Given the description of an element on the screen output the (x, y) to click on. 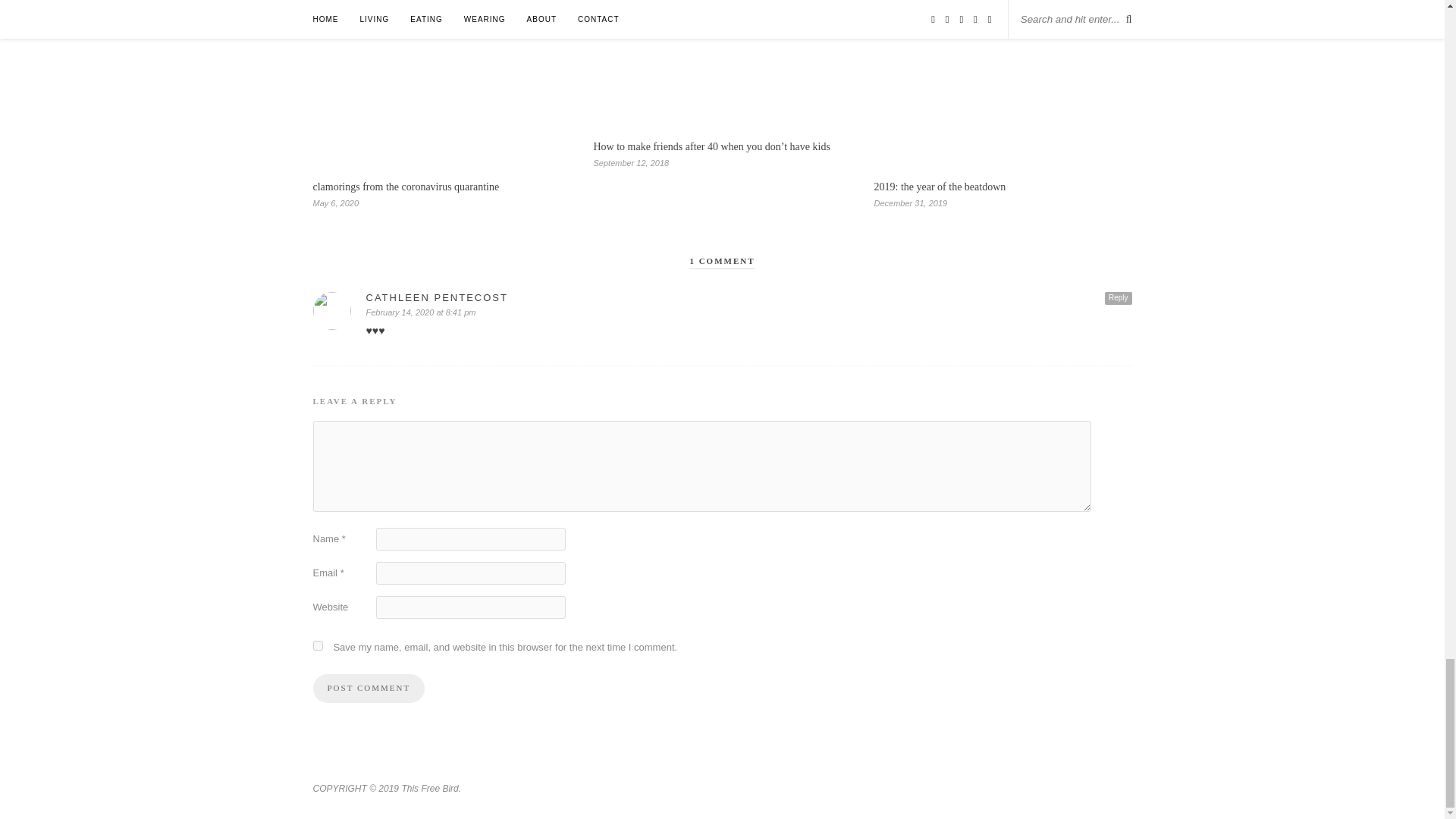
2019: the year of the beatdown (939, 186)
yes (317, 645)
Reply (1118, 297)
Post Comment (369, 688)
clamorings from the coronavirus quarantine (406, 186)
Post Comment (369, 688)
